Given the description of an element on the screen output the (x, y) to click on. 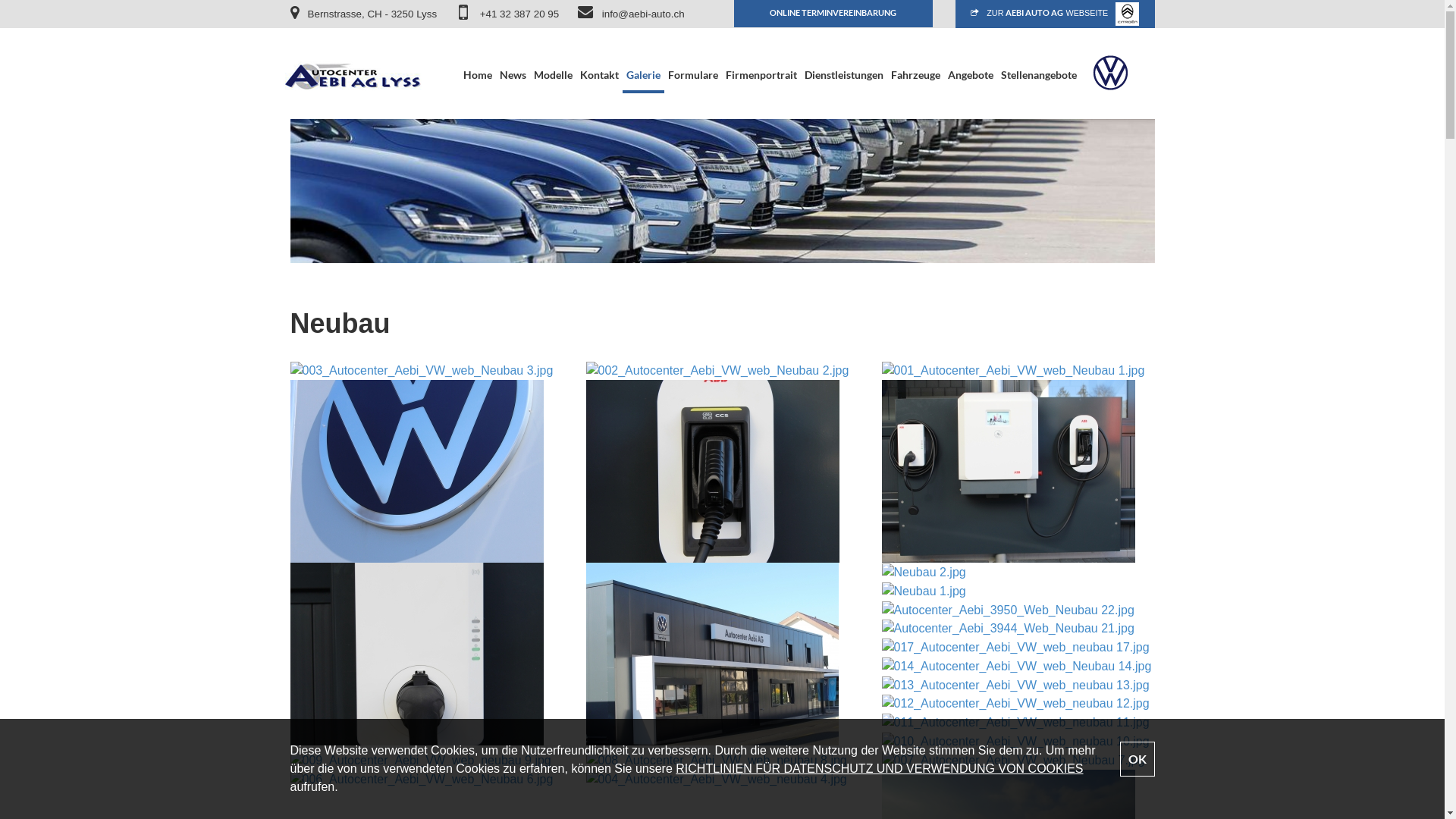
Home Element type: text (477, 60)
Modelle Element type: text (553, 60)
News Element type: text (512, 60)
Fahrzeuge Element type: text (915, 60)
ZUR AEBI AUTO AG WEBSEITE Element type: text (1054, 14)
Galerie Element type: text (643, 60)
Stellenangebote Element type: text (1038, 60)
Angebote Element type: text (970, 60)
OK Element type: text (1136, 758)
Firmenportrait Element type: text (760, 60)
Formulare Element type: text (692, 60)
Kontakt Element type: text (599, 60)
Dienstleistungen Element type: text (843, 60)
ONLINE TERMINVEREINBARUNG Element type: text (833, 13)
